Given the description of an element on the screen output the (x, y) to click on. 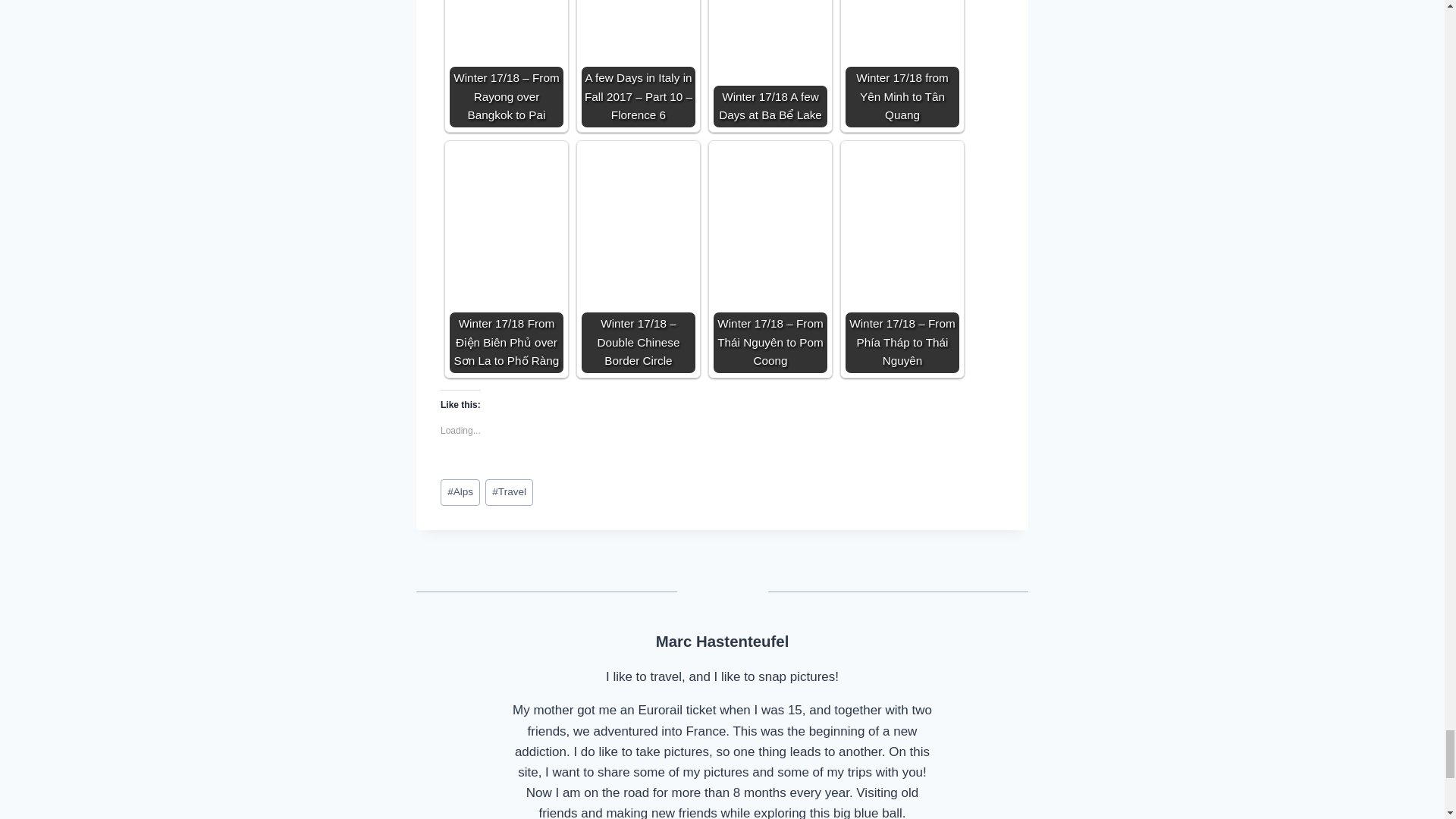
Alps (460, 492)
Travel (508, 492)
Marc Hastenteufel (722, 641)
Posts by Marc Hastenteufel (722, 641)
